Given the description of an element on the screen output the (x, y) to click on. 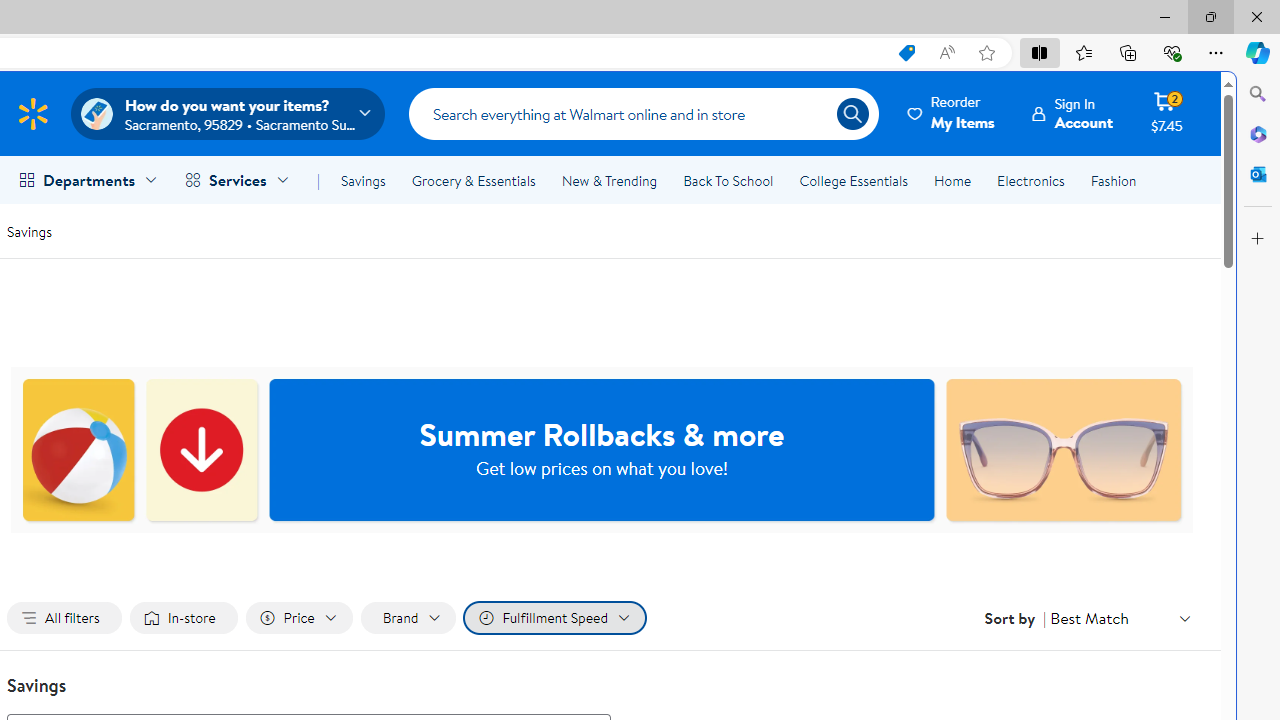
Sort by Best Match (1120, 618)
Search icon (852, 113)
Filter by Price not applied, activate to change (298, 618)
Back To School (728, 180)
Savings (363, 180)
